Given the description of an element on the screen output the (x, y) to click on. 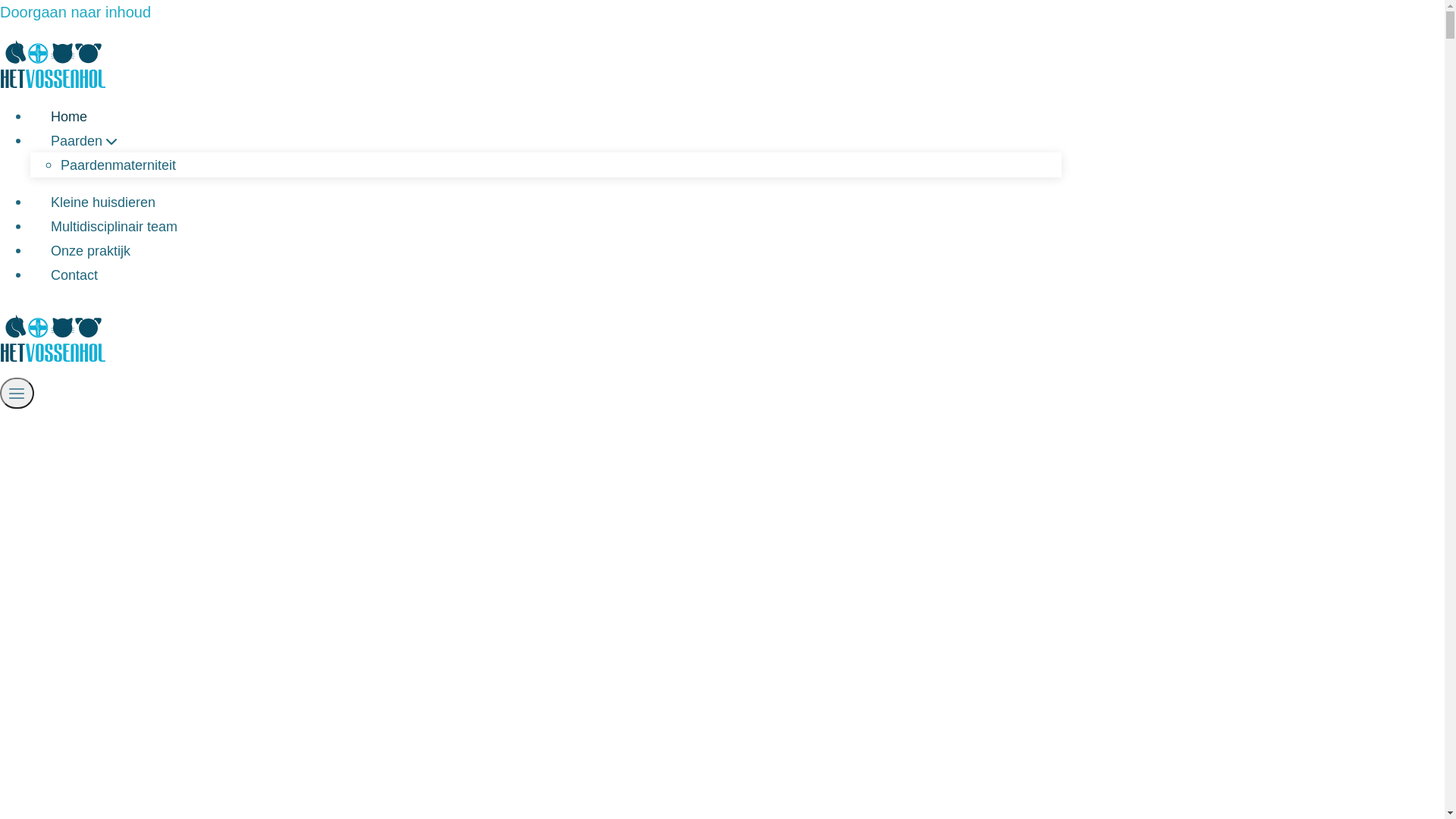
Home Element type: text (68, 116)
Doorgaan naar inhoud Element type: text (75, 11)
Kleine huisdieren Element type: text (102, 202)
Contact Element type: text (74, 274)
Toggle menu Element type: text (17, 392)
Onze praktijk Element type: text (90, 250)
Multidisciplinair team Element type: text (113, 226)
PaardenUitvouwen Element type: text (85, 140)
Paardenmaterniteit Element type: text (117, 165)
